Given the description of an element on the screen output the (x, y) to click on. 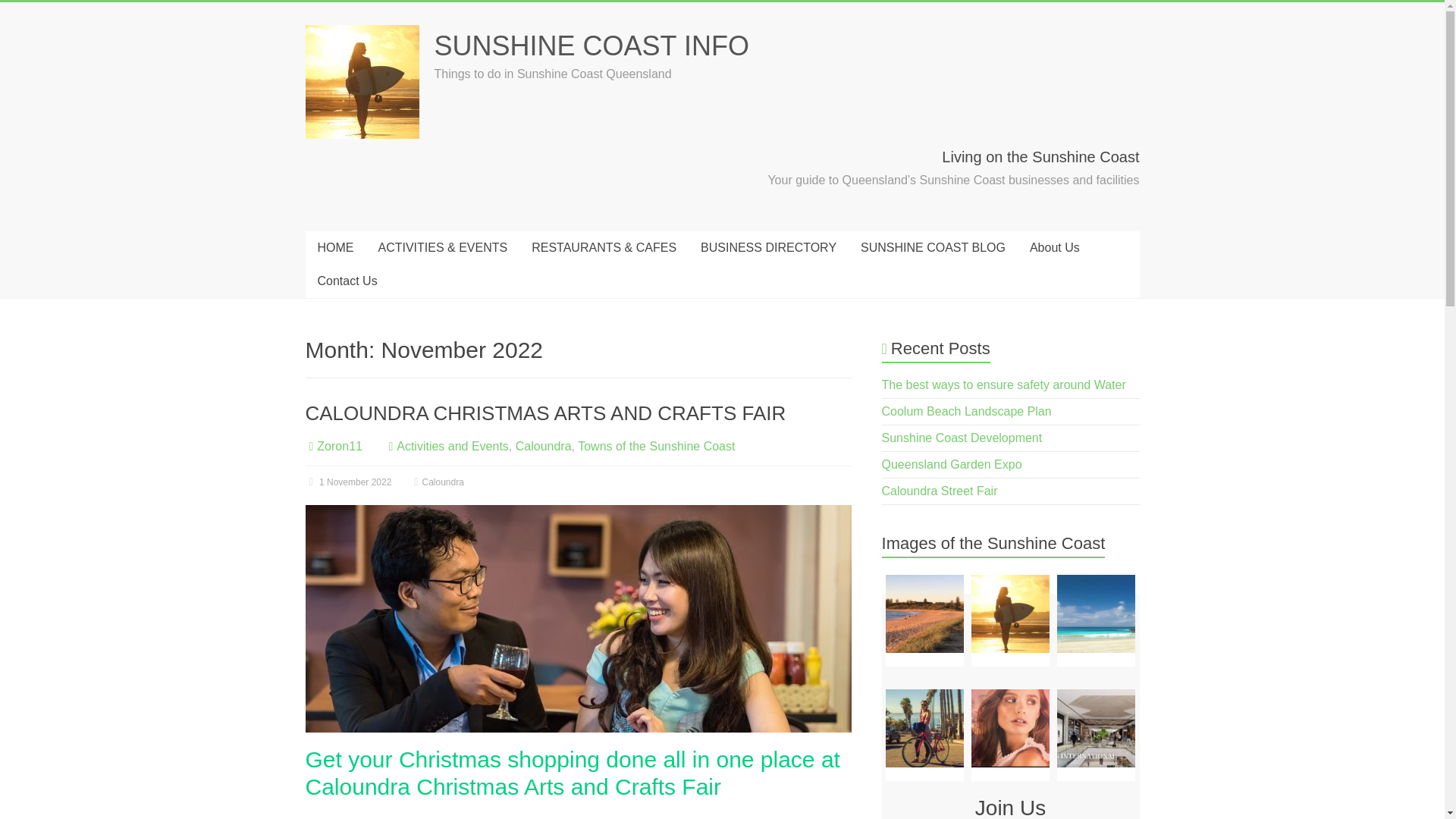
Caloundra (543, 445)
CALOUNDRA CHRISTMAS ARTS AND CRAFTS FAIR (577, 512)
SUNSHINE COAST BLOG (932, 247)
1 November 2022 (347, 481)
CALOUNDRA CHRISTMAS ARTS AND CRAFTS FAIR (577, 618)
SUNSHINE COAST INFO (590, 45)
HOME (334, 247)
SUNSHINE COAST INFO (590, 45)
CALOUNDRA CHRISTMAS ARTS AND CRAFTS FAIR (545, 413)
BUSINESS DIRECTORY (768, 247)
